Given the description of an element on the screen output the (x, y) to click on. 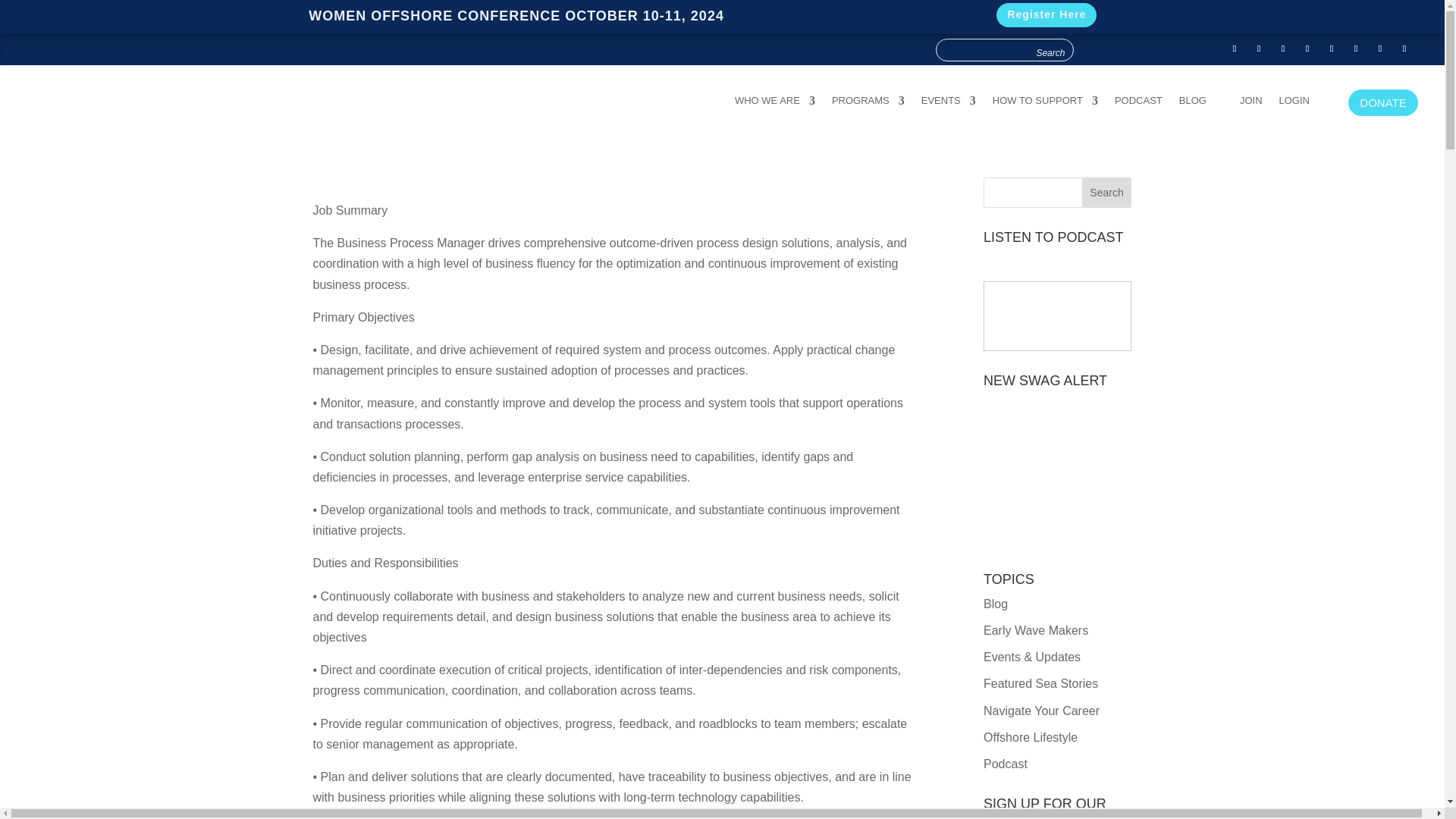
PODCAST (1138, 103)
Search (1050, 52)
Follow on Facebook (1234, 48)
Follow on iTunes (1331, 48)
Follow on LinkedIn (1355, 48)
Search (1050, 52)
Follow on Podcast (1403, 48)
Register Here (1045, 15)
WHO WE ARE (775, 103)
EVENTS (948, 103)
PROGRAMS (867, 103)
Follow on Youtube (1283, 48)
Search (1050, 52)
Search (1106, 192)
Follow on Instagram (1307, 48)
